Given the description of an element on the screen output the (x, y) to click on. 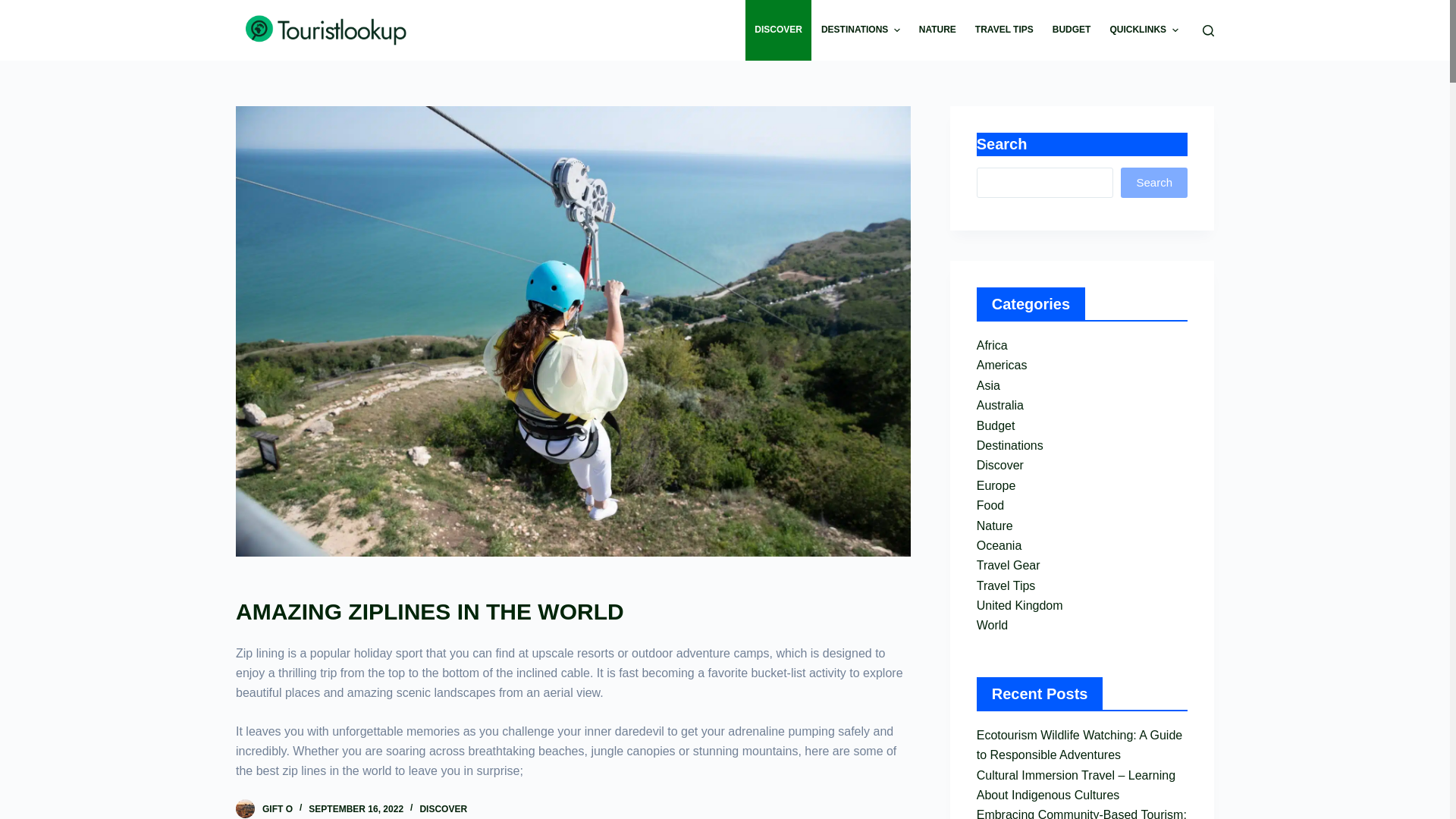
Posts by Gift O (277, 808)
DISCOVER (778, 30)
AMAZING ZIPLINES IN THE WORLD (573, 611)
Skip to content (15, 7)
DESTINATIONS (859, 30)
QUICKLINKS (1144, 30)
TRAVEL TIPS (1003, 30)
NATURE (936, 30)
BUDGET (1071, 30)
